Given the description of an element on the screen output the (x, y) to click on. 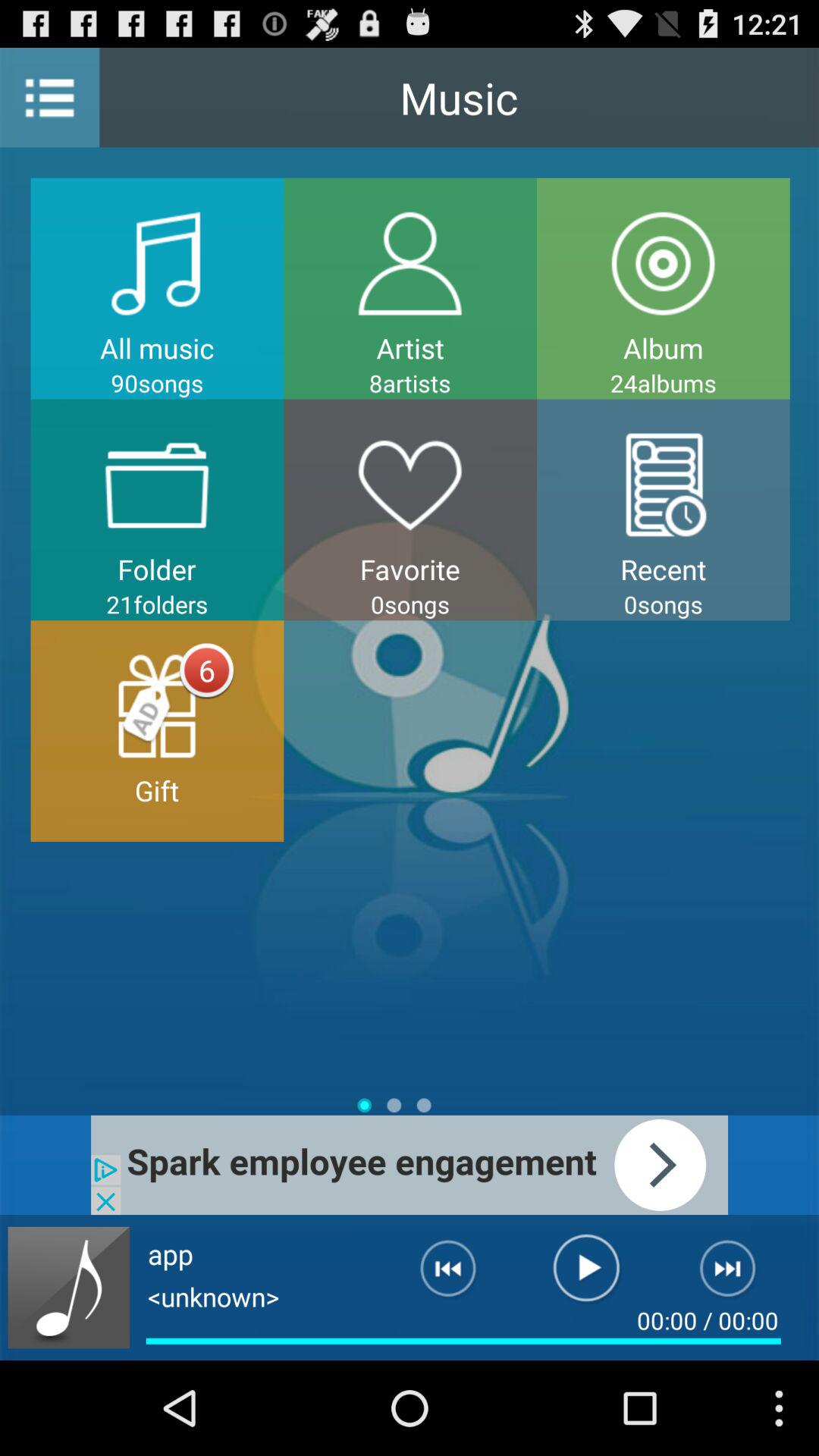
select to play music (586, 1274)
